Given the description of an element on the screen output the (x, y) to click on. 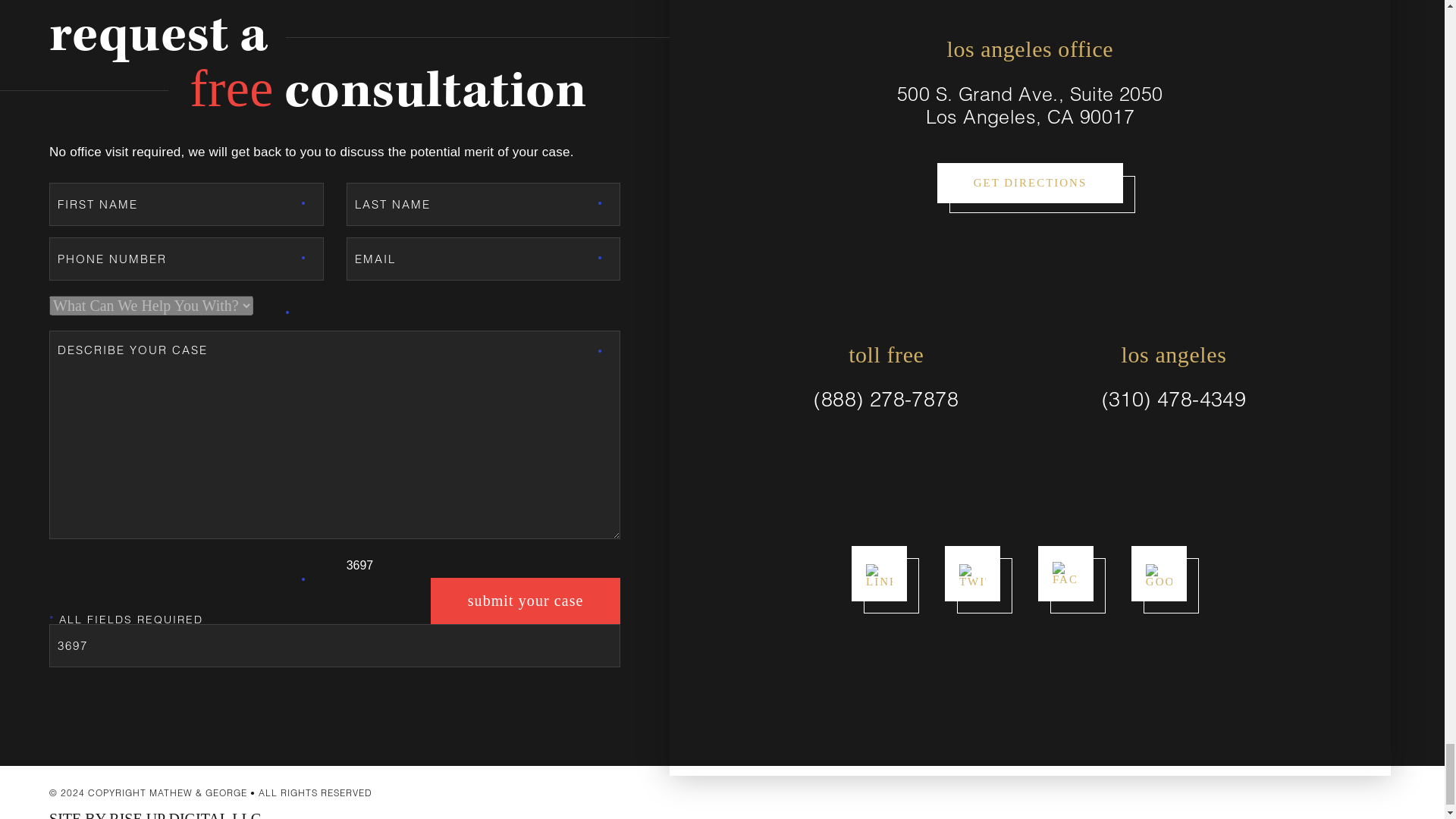
3697 (334, 645)
submit your case (525, 601)
